Given the description of an element on the screen output the (x, y) to click on. 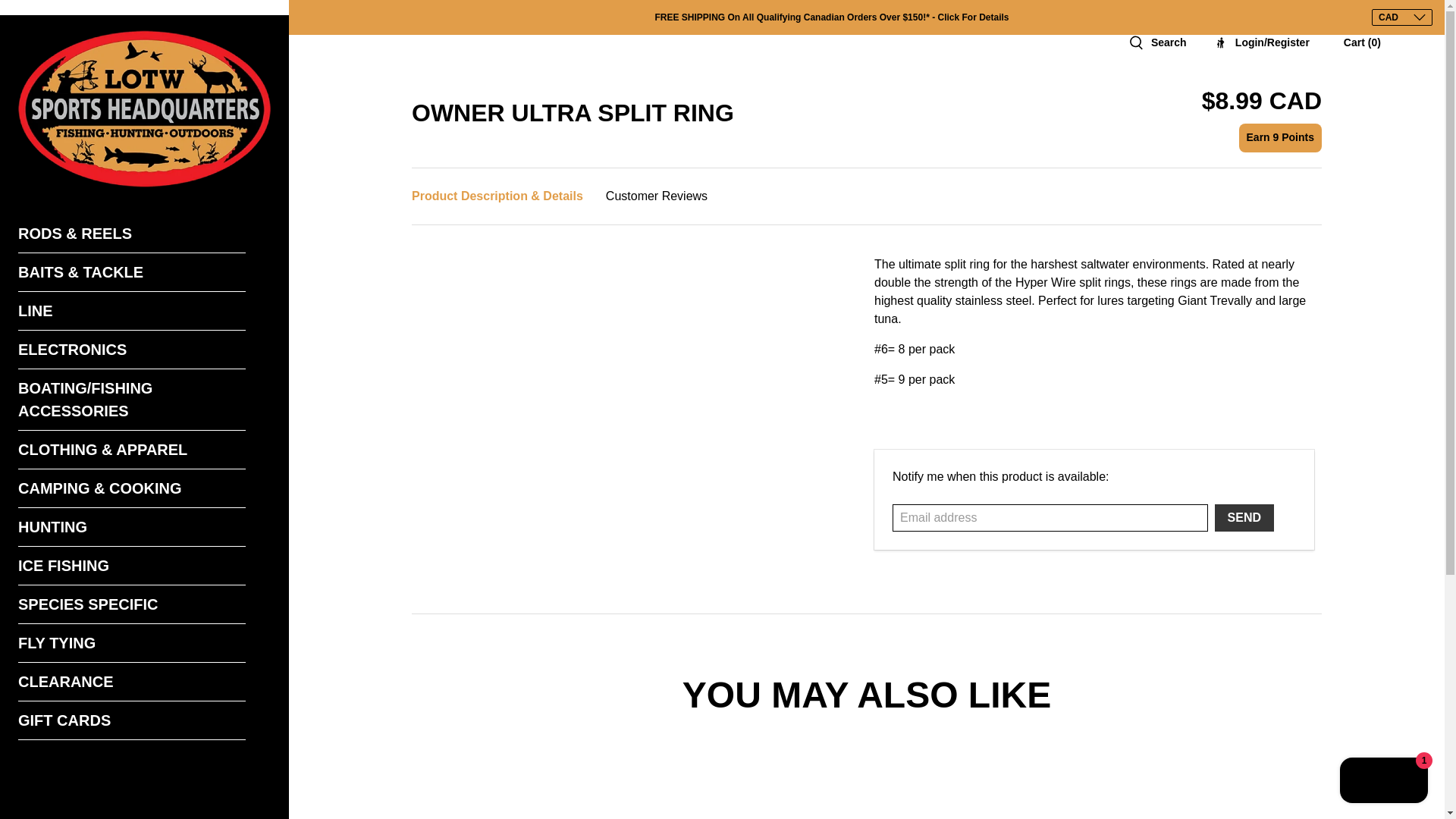
Send (1244, 516)
LOTWSHQ (143, 108)
Shipping (973, 17)
ELECTRONICS (131, 349)
JPY (1401, 193)
CAD (1401, 63)
INR (1401, 89)
EUR (1401, 167)
Shopify online store chat (1383, 781)
Click For Details (973, 17)
CAD (1401, 17)
USD (1401, 38)
LINE (131, 310)
GBP (1401, 115)
AUD (1401, 141)
